Given the description of an element on the screen output the (x, y) to click on. 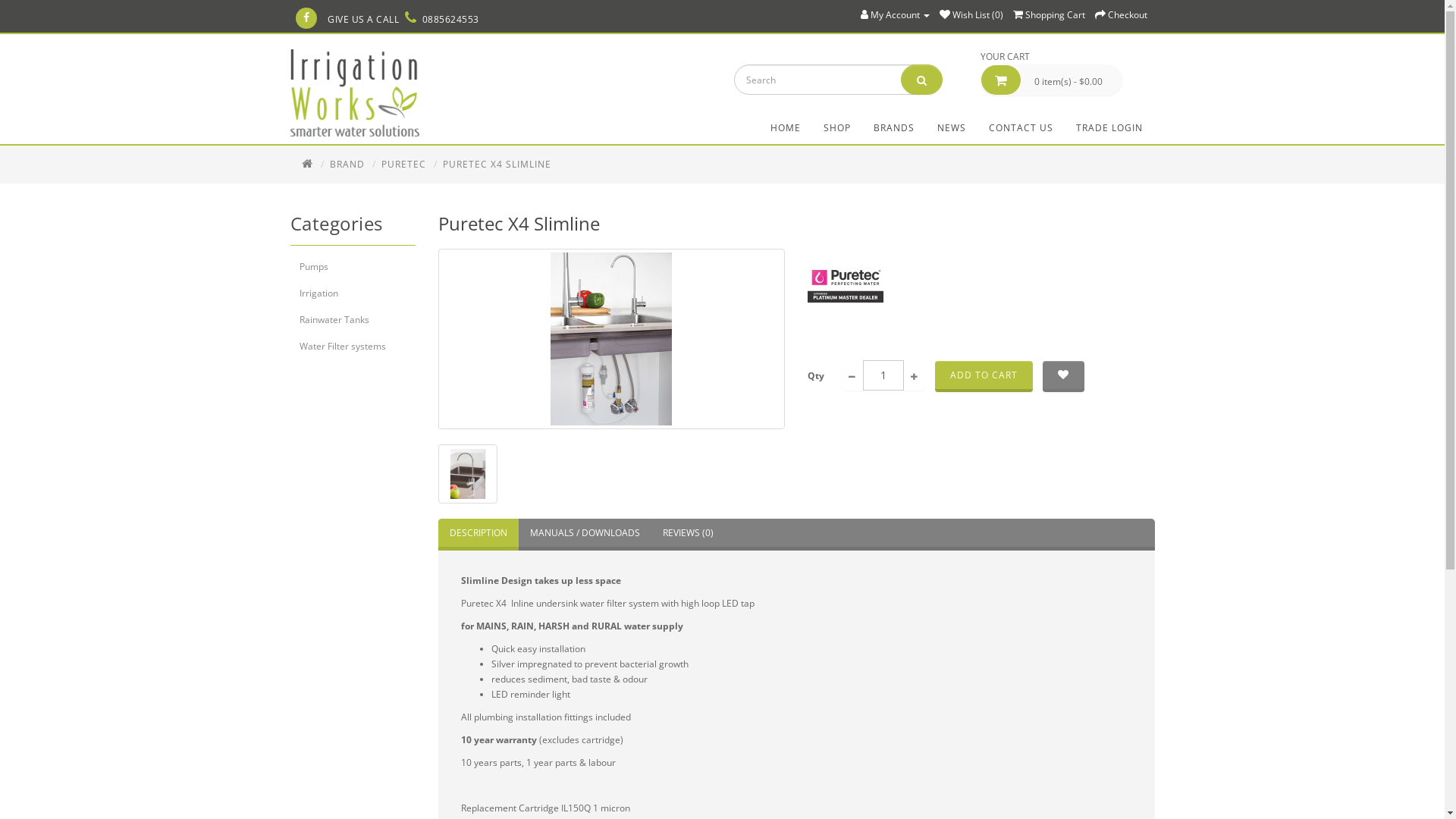
TRADE LOGIN Element type: text (1109, 127)
My Account Element type: text (893, 14)
Puretec X4 Slimline Element type: hover (611, 338)
Irrigation Works Element type: hover (353, 92)
PURETEC Element type: text (402, 163)
HOME Element type: text (784, 127)
Wish List (0) Element type: text (970, 14)
PURETEC X4 SLIMLINE Element type: text (496, 163)
SHOP Element type: text (836, 127)
CONTACT US Element type: text (1019, 127)
Checkout Element type: text (1121, 14)
BRAND Element type: text (346, 163)
Water Filter systems Element type: text (351, 346)
BRANDS Element type: text (893, 127)
Puretec X4 Slimline Element type: hover (610, 338)
Shopping Cart Element type: text (1049, 14)
Rainwater Tanks Element type: text (351, 319)
NEWS Element type: text (950, 127)
Puretec X4 Slimline Element type: hover (467, 473)
ADD TO CART Element type: text (983, 376)
Irrigation Element type: text (351, 293)
MANUALS / DOWNLOADS Element type: text (584, 534)
Puretec X4 Slimline Element type: hover (467, 473)
Pumps Element type: text (351, 266)
REVIEWS (0) Element type: text (687, 534)
DESCRIPTION Element type: text (478, 534)
0 item(s) - $0.00 Element type: text (1051, 79)
